Given the description of an element on the screen output the (x, y) to click on. 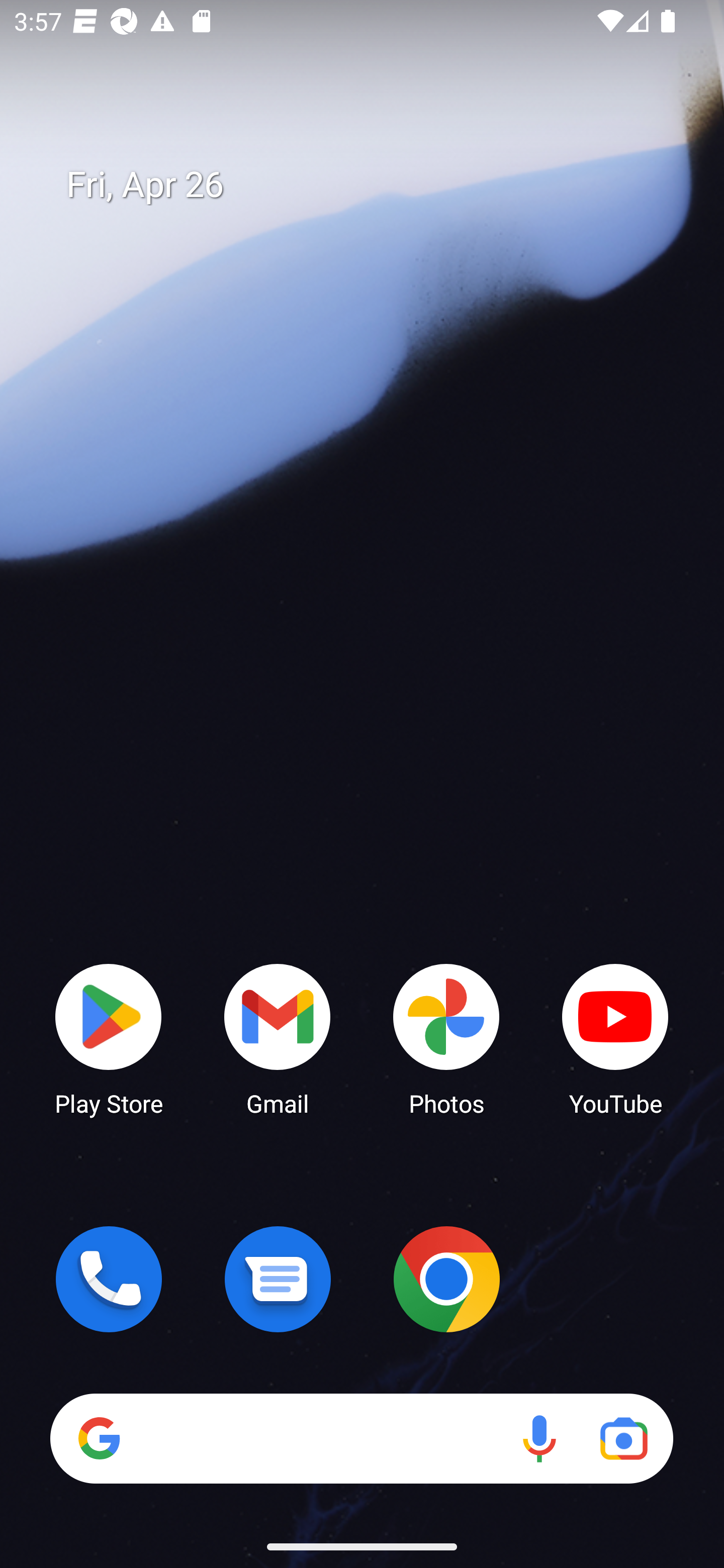
Fri, Apr 26 (375, 184)
Play Store (108, 1038)
Gmail (277, 1038)
Photos (445, 1038)
YouTube (615, 1038)
Phone (108, 1279)
Messages (277, 1279)
Chrome (446, 1279)
Search Voice search Google Lens (361, 1438)
Voice search (539, 1438)
Google Lens (623, 1438)
